Given the description of an element on the screen output the (x, y) to click on. 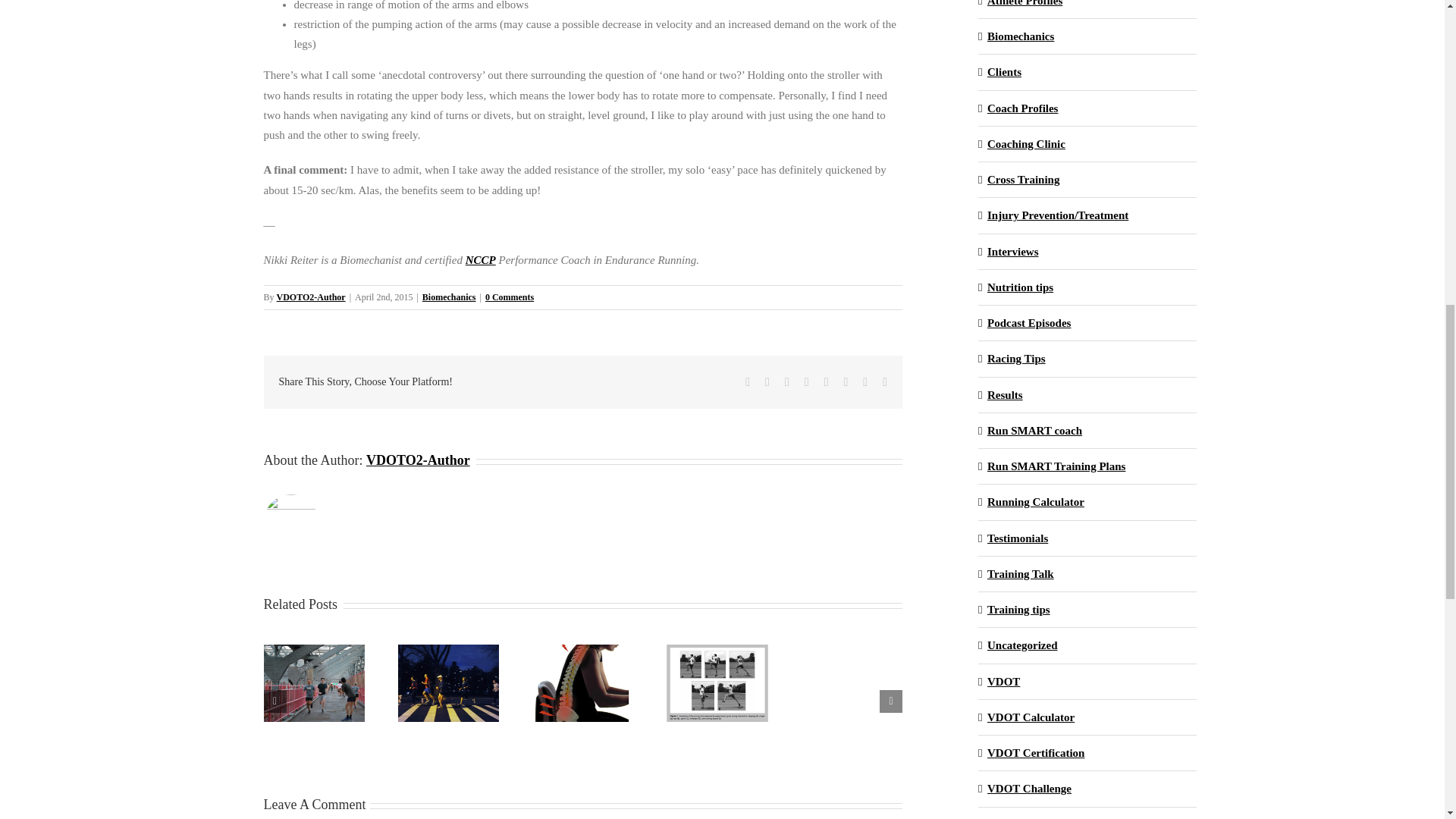
Posts by VDOTO2-Author (311, 296)
NCCP (480, 259)
VDOTO2-Author (418, 459)
VDOTO2-Author (311, 296)
0 Comments (509, 296)
Posts by VDOTO2-Author (418, 459)
Biomechanics (449, 296)
